Given the description of an element on the screen output the (x, y) to click on. 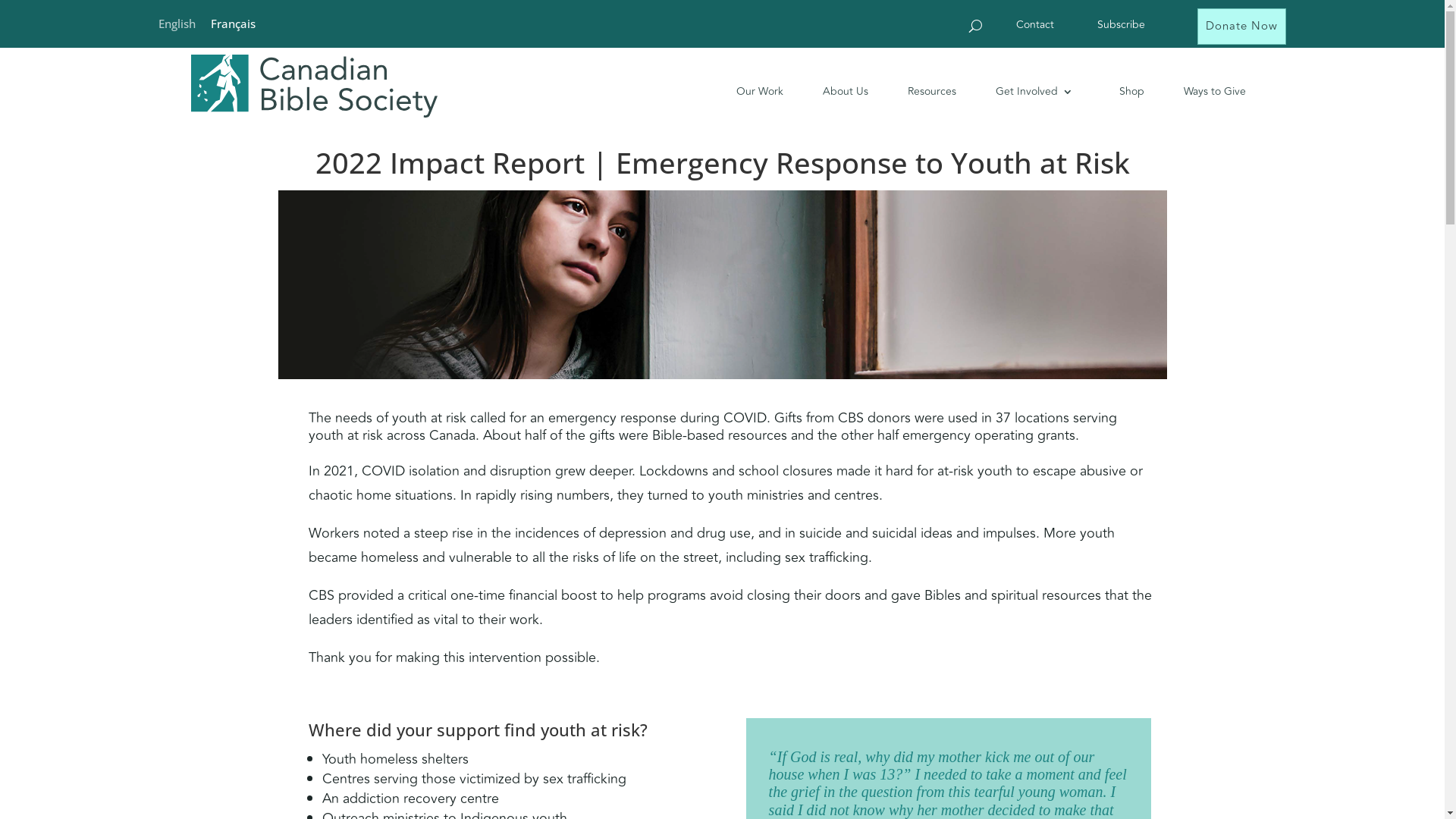
Our Work Element type: text (747, 91)
Donate Now Element type: text (1241, 26)
Get Involved Element type: text (1022, 91)
Contact Element type: text (1029, 27)
Subscribe Element type: text (1115, 27)
Resources Element type: text (919, 91)
Shop Element type: text (1120, 91)
About Us Element type: text (833, 91)
Ways to Give Element type: text (1202, 91)
English Element type: text (176, 23)
